Given the description of an element on the screen output the (x, y) to click on. 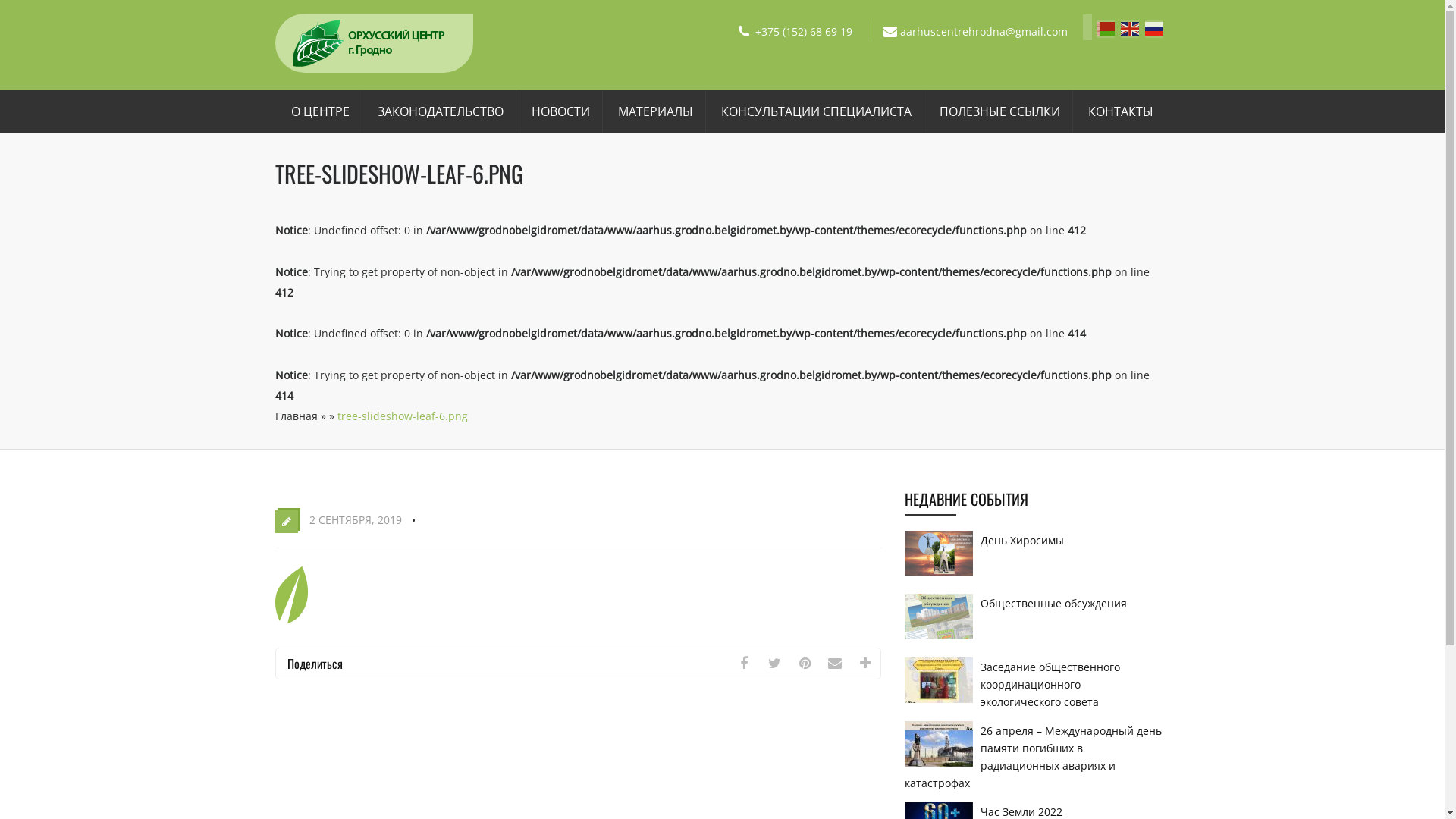
English Element type: hover (1132, 26)
Belarusian Element type: hover (1108, 26)
+375 (152) 68 69 19 Element type: text (803, 31)
Russian Element type: hover (1157, 26)
aarhuscentrehrodna@gmail.com Element type: text (983, 31)
